Given the description of an element on the screen output the (x, y) to click on. 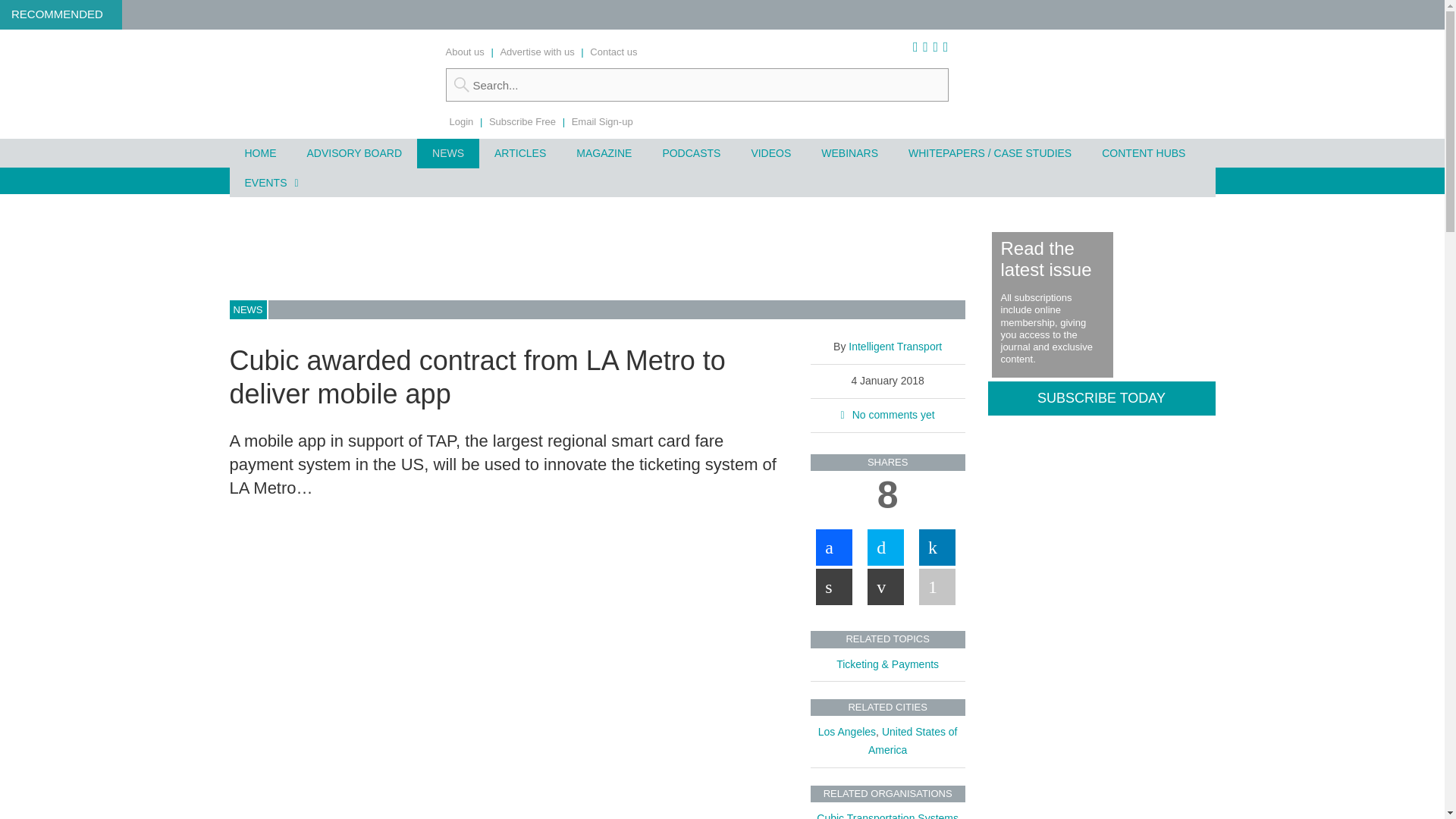
PODCASTS (690, 152)
NEWS (447, 152)
Subscribe Free (522, 121)
CONTENT HUBS (1142, 152)
Login (460, 121)
Contact us (613, 51)
Email Sign-up (602, 121)
ADVISORY BOARD (353, 152)
ARTICLES (519, 152)
About us (464, 51)
